Given the description of an element on the screen output the (x, y) to click on. 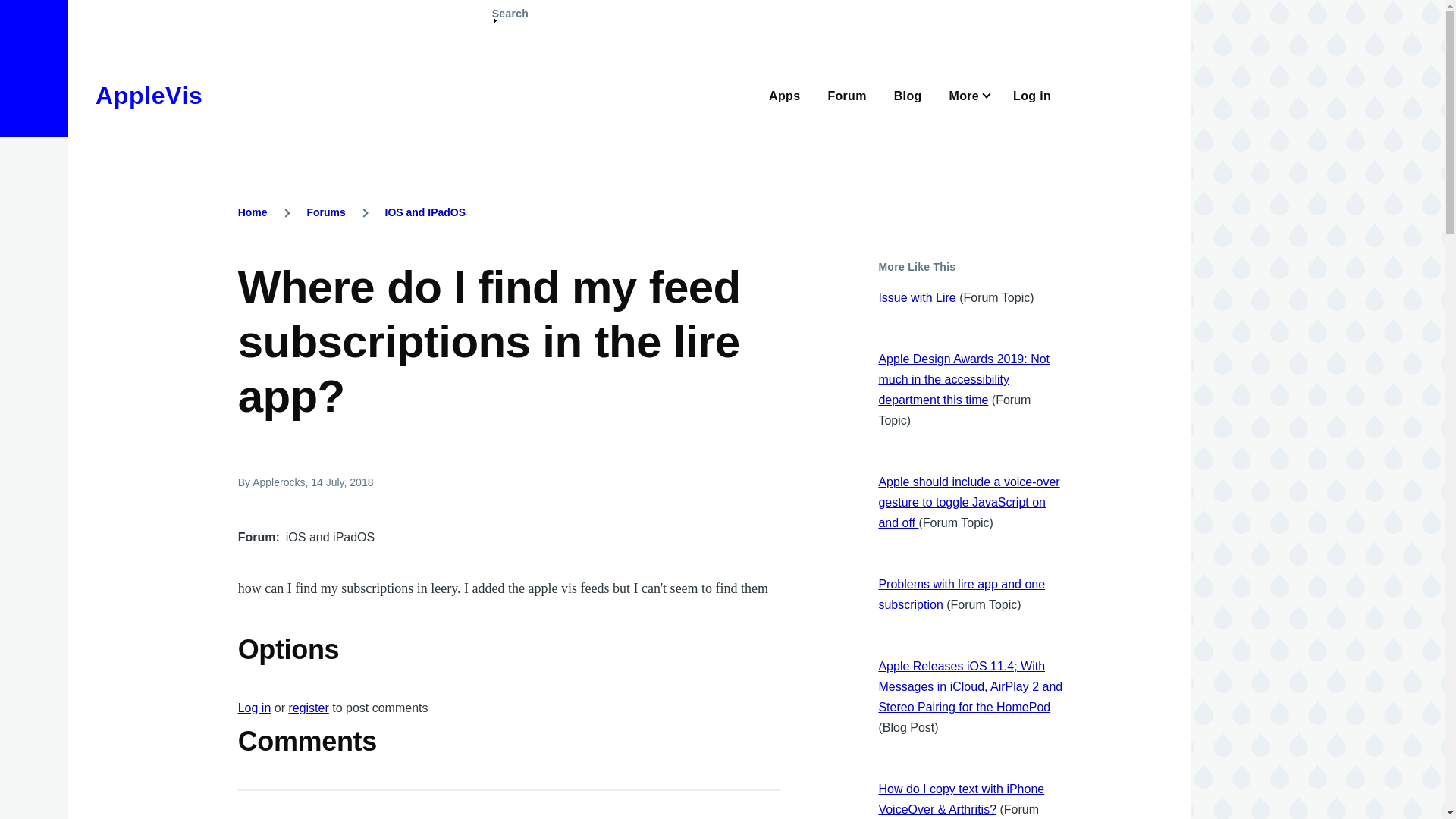
Log in (254, 707)
Skip to main content (595, 6)
Issue with Lire (916, 297)
IOS and IPadOS (425, 212)
Problems with lire app and one subscription (961, 594)
Search (510, 20)
register (308, 707)
AppleVis (149, 94)
Forums (325, 212)
Home (252, 212)
Home (149, 94)
